Given the description of an element on the screen output the (x, y) to click on. 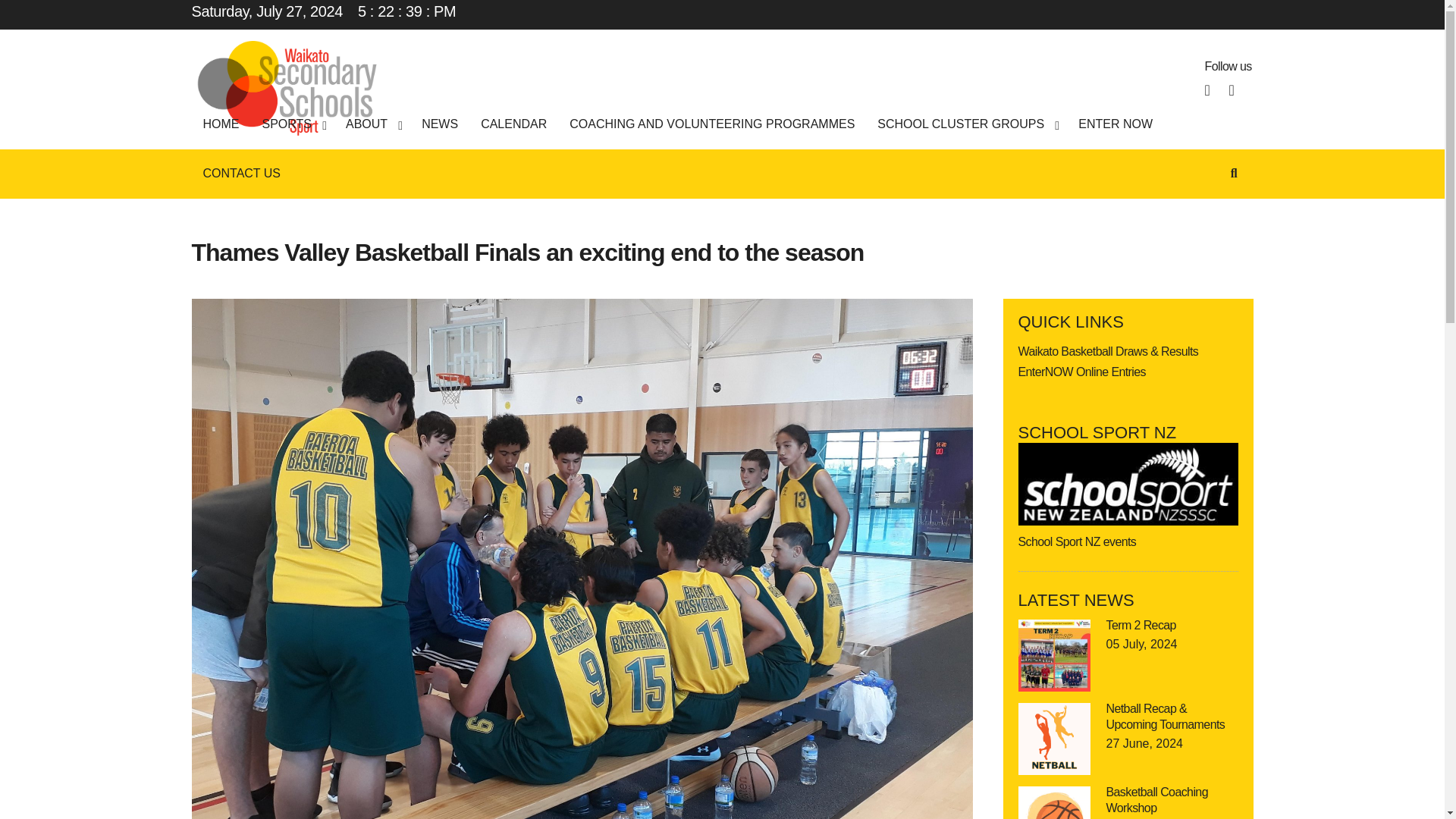
SPORTS (292, 123)
HOME (220, 123)
